Given the description of an element on the screen output the (x, y) to click on. 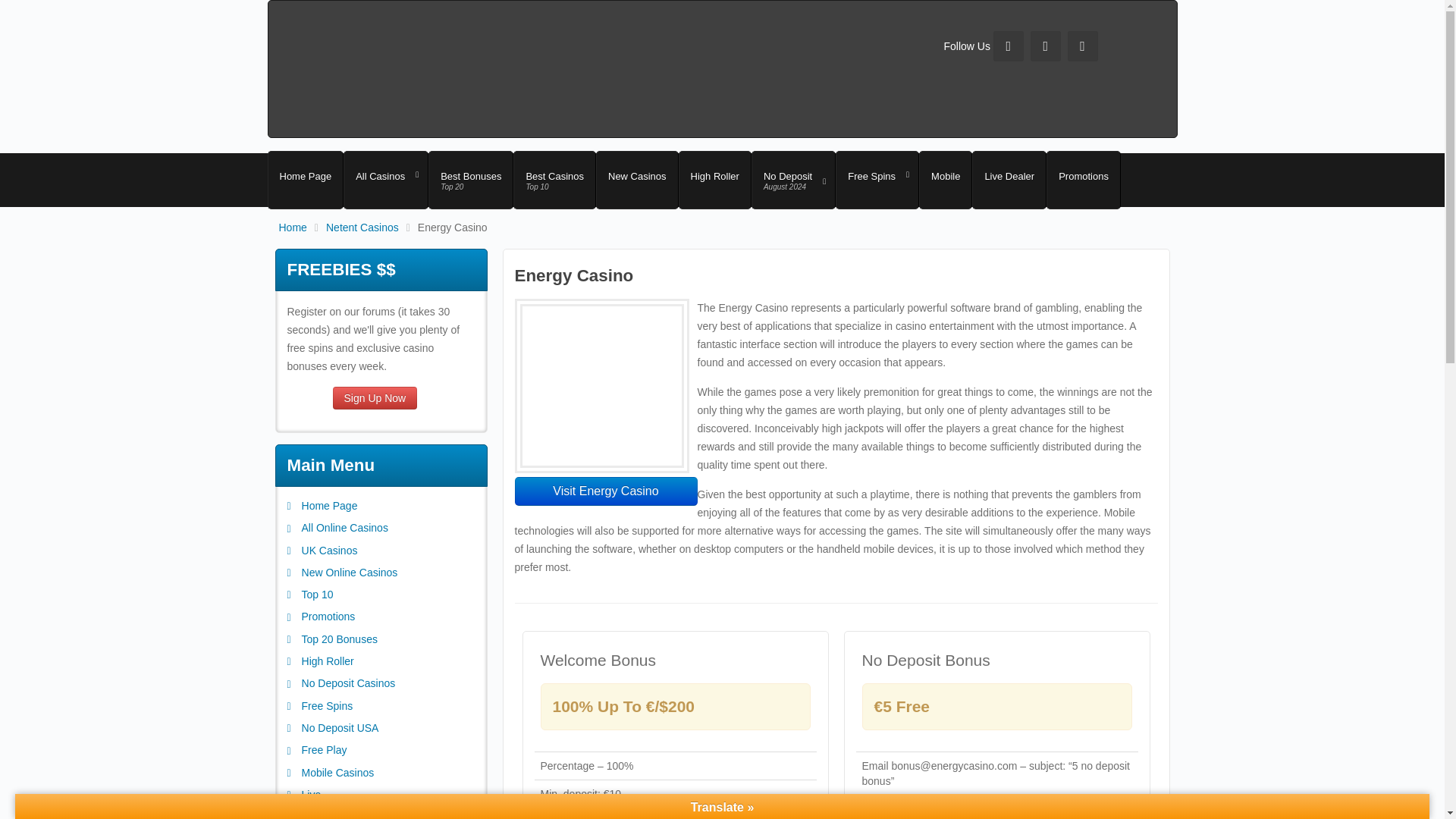
New Casinos (636, 179)
Home (302, 227)
All Casinos (385, 179)
Free Spins (876, 179)
High Roller (554, 179)
Home Page (714, 179)
